Given the description of an element on the screen output the (x, y) to click on. 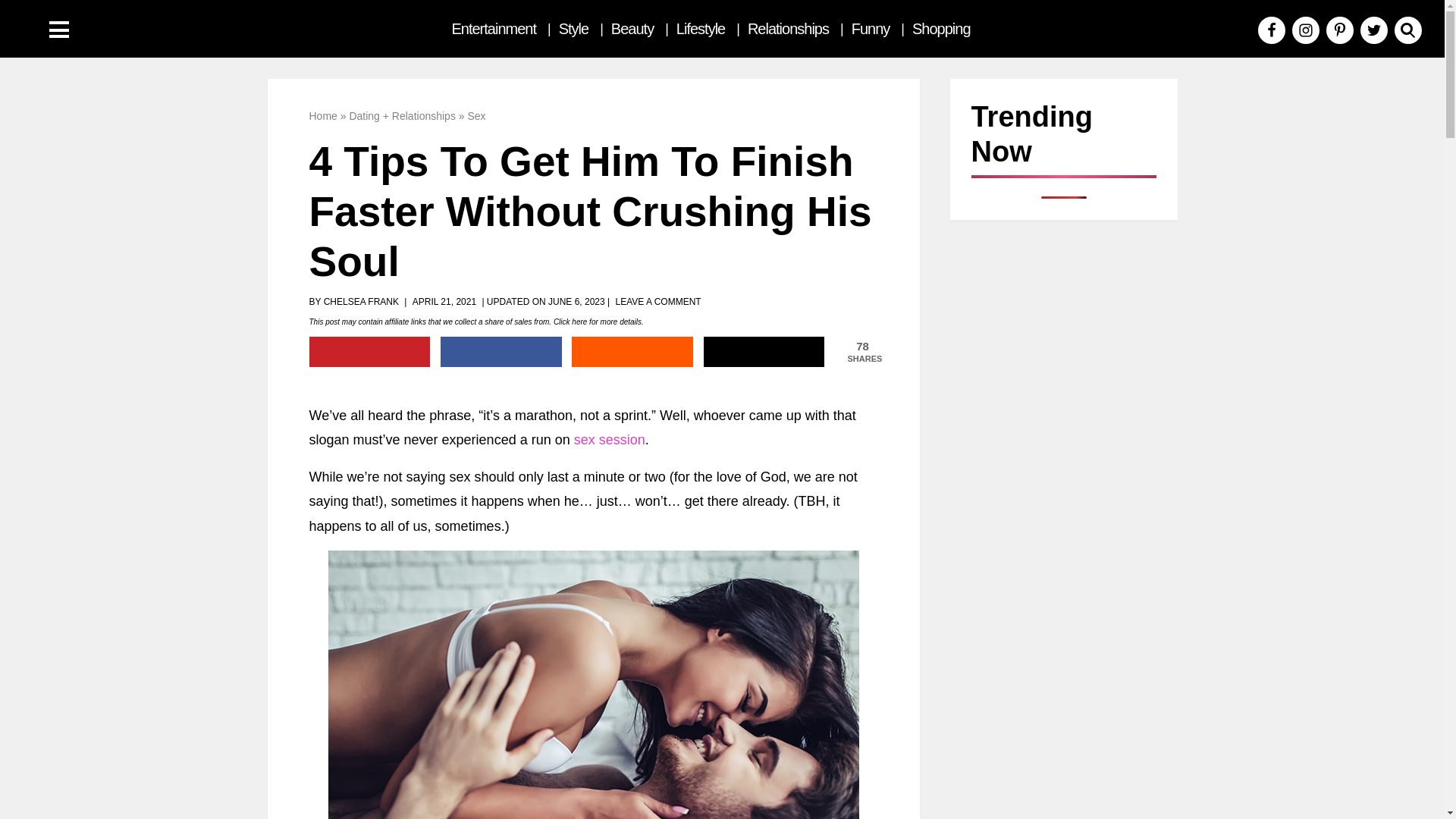
Save to Pinterest (369, 351)
Share on Facebook (501, 351)
Share on Reddit (632, 351)
Share on X (764, 351)
Main Menu (58, 30)
Darcy Magazine (113, 28)
